Given the description of an element on the screen output the (x, y) to click on. 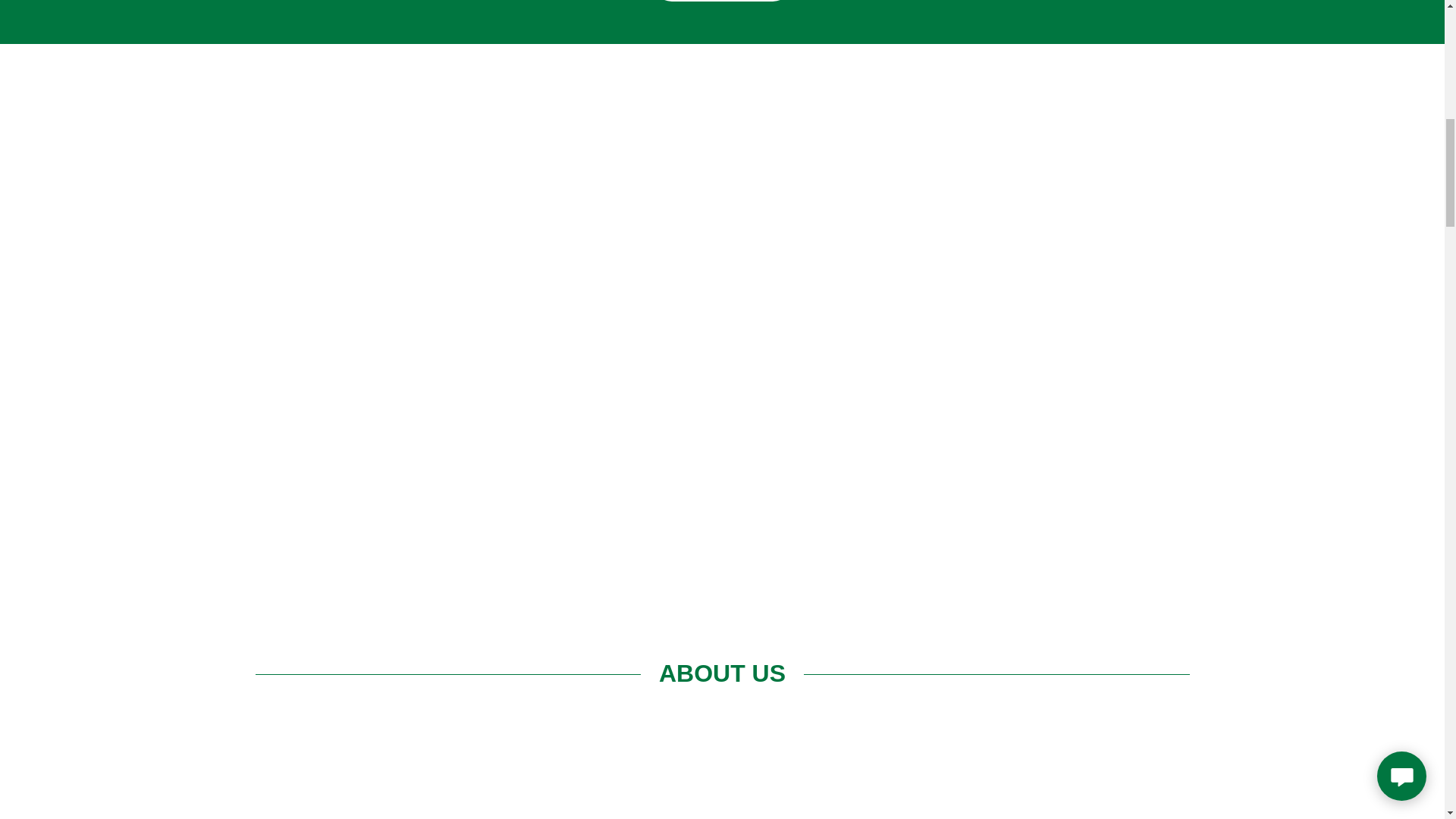
SIGN UP NOW (721, 0)
